Given the description of an element on the screen output the (x, y) to click on. 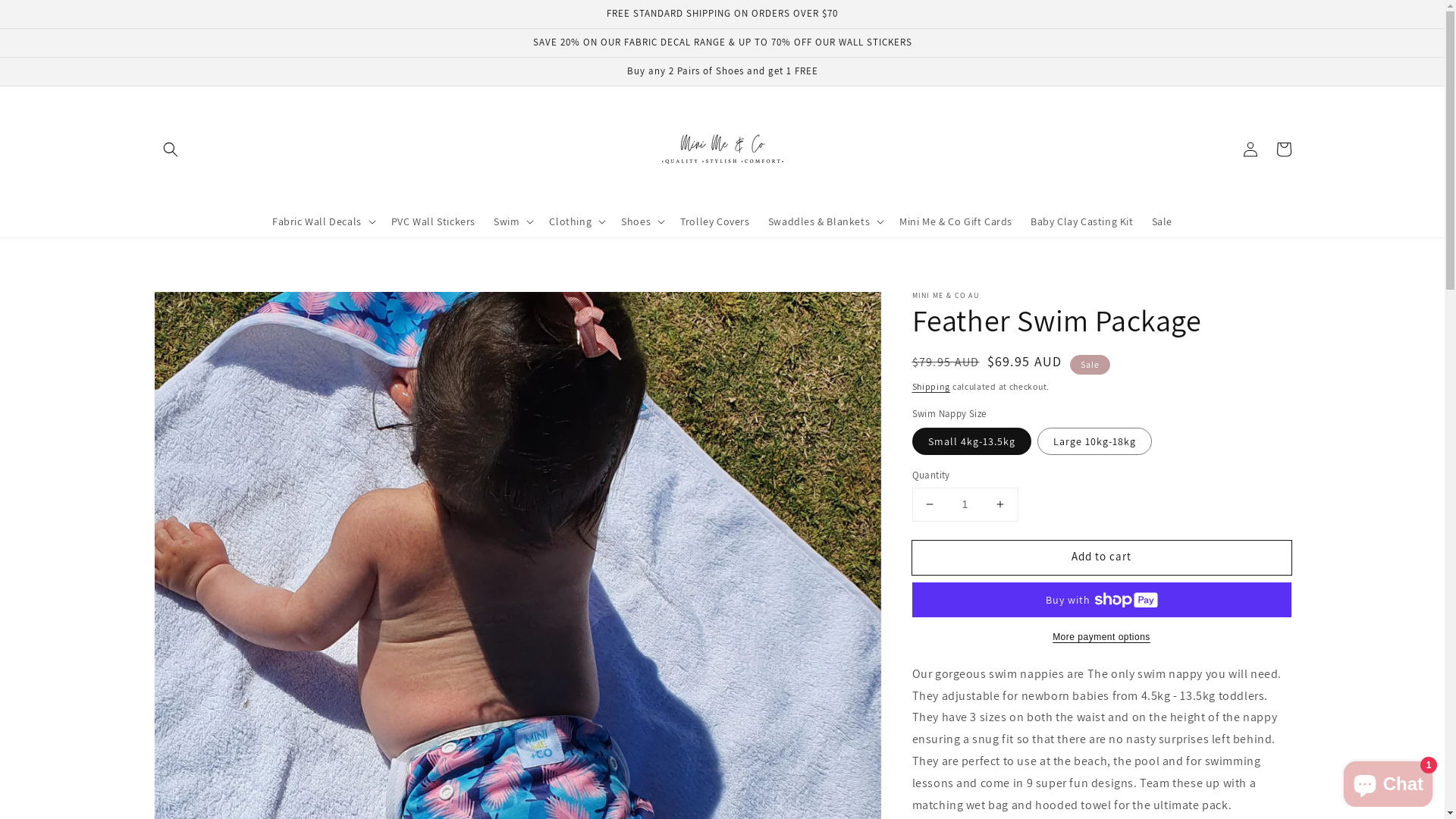
Log in Element type: text (1249, 149)
Cart Element type: text (1282, 149)
Add to cart Element type: text (1100, 557)
PVC Wall Stickers Element type: text (433, 221)
Shipping Element type: text (930, 386)
Skip to product information Element type: text (198, 307)
Increase quantity for Feather Swim Package Element type: text (999, 504)
Mini Me & Co Gift Cards Element type: text (955, 221)
Decrease quantity for Feather Swim Package Element type: text (930, 504)
Shopify online store chat Element type: hover (1388, 780)
Trolley Covers Element type: text (714, 221)
Sale Element type: text (1161, 221)
More payment options Element type: text (1100, 636)
Baby Clay Casting Kit Element type: text (1081, 221)
